Given the description of an element on the screen output the (x, y) to click on. 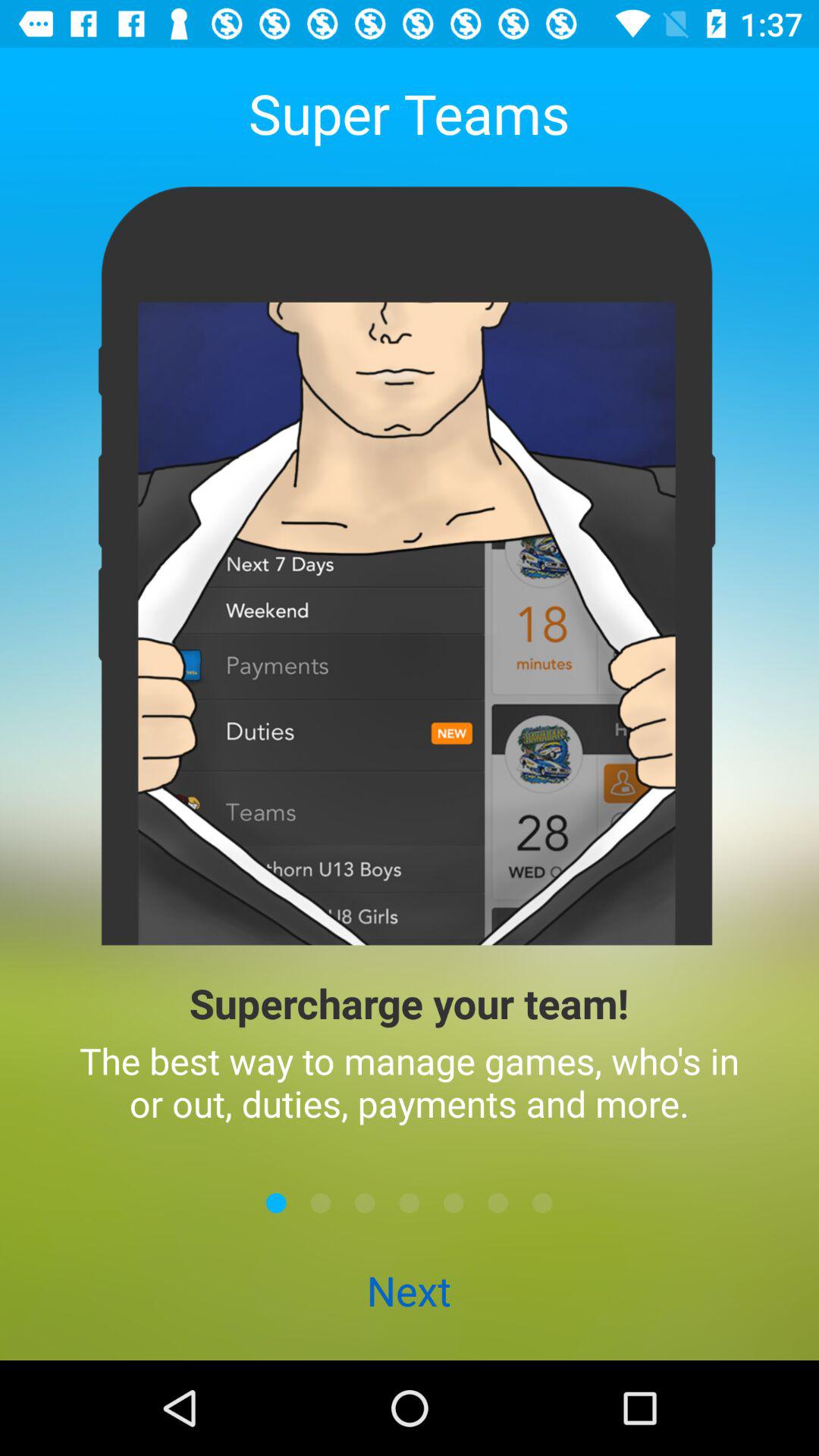
launch the icon above next icon (364, 1203)
